Given the description of an element on the screen output the (x, y) to click on. 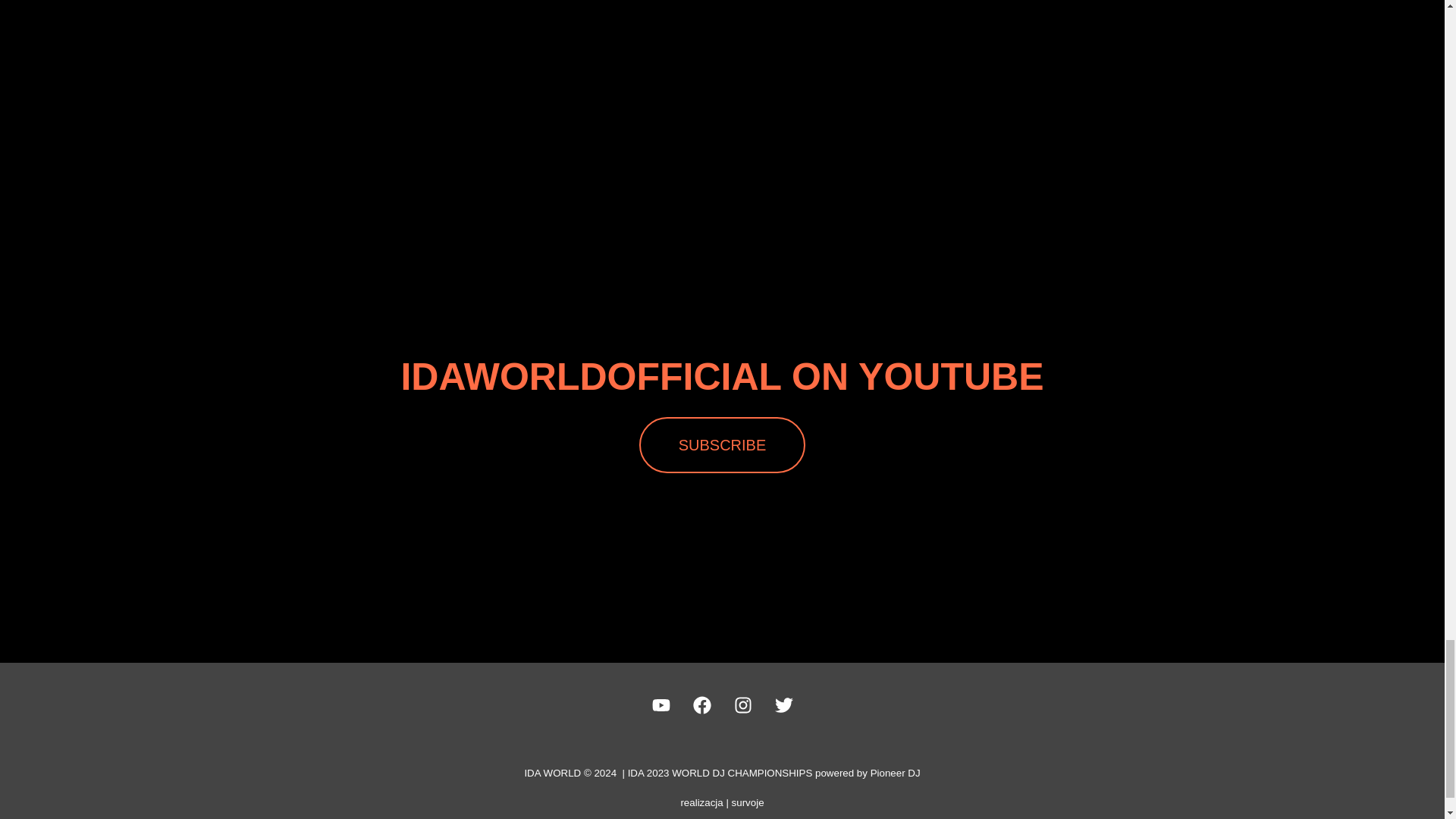
SUBSCRIBE (722, 444)
survoje (748, 802)
